Given the description of an element on the screen output the (x, y) to click on. 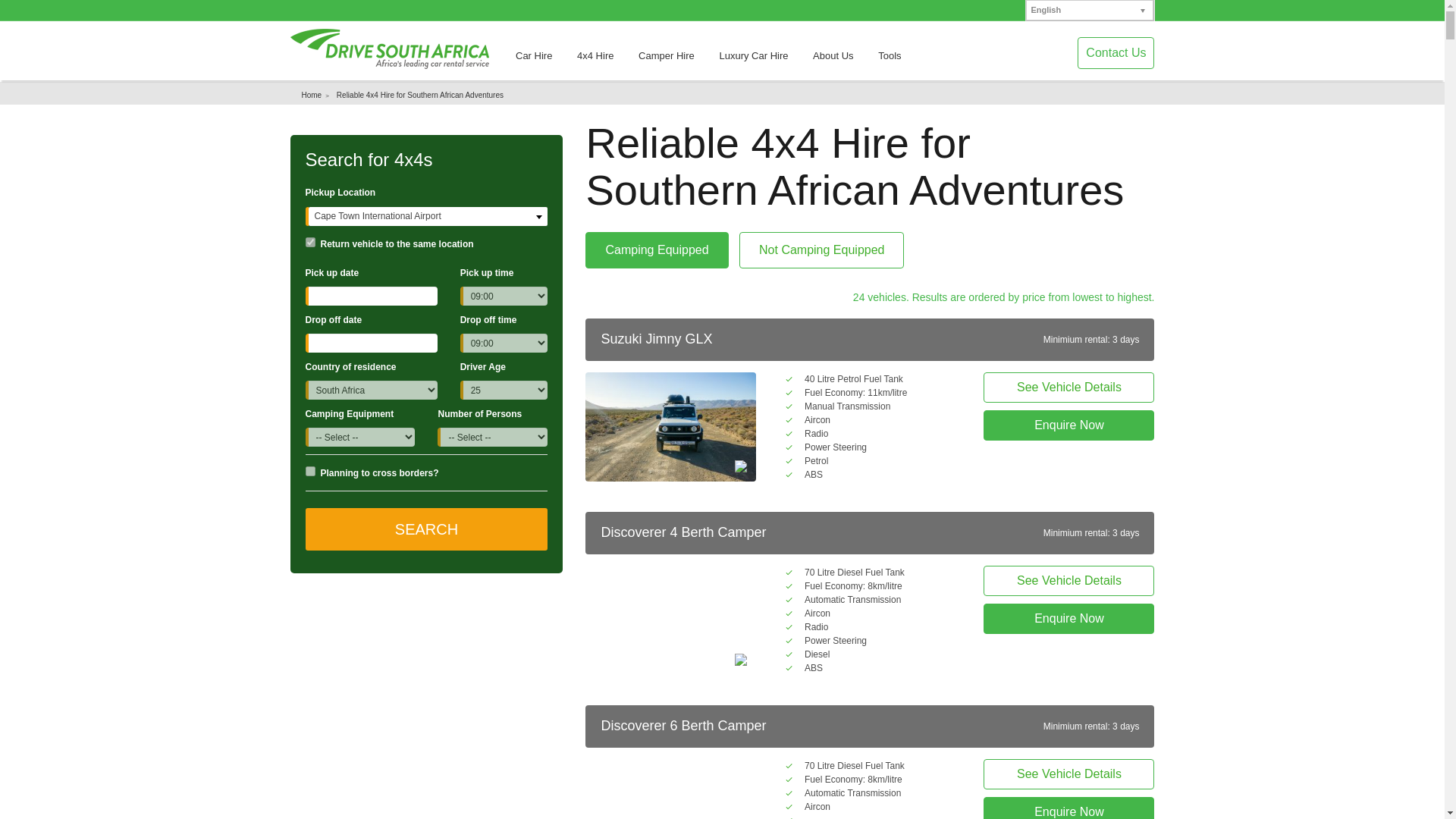
on (309, 242)
Drive South Africa (388, 48)
English (1089, 10)
Search (425, 528)
4x4 Hire (602, 61)
Camper Hire (672, 61)
Car Hire (541, 61)
on (309, 470)
